Given the description of an element on the screen output the (x, y) to click on. 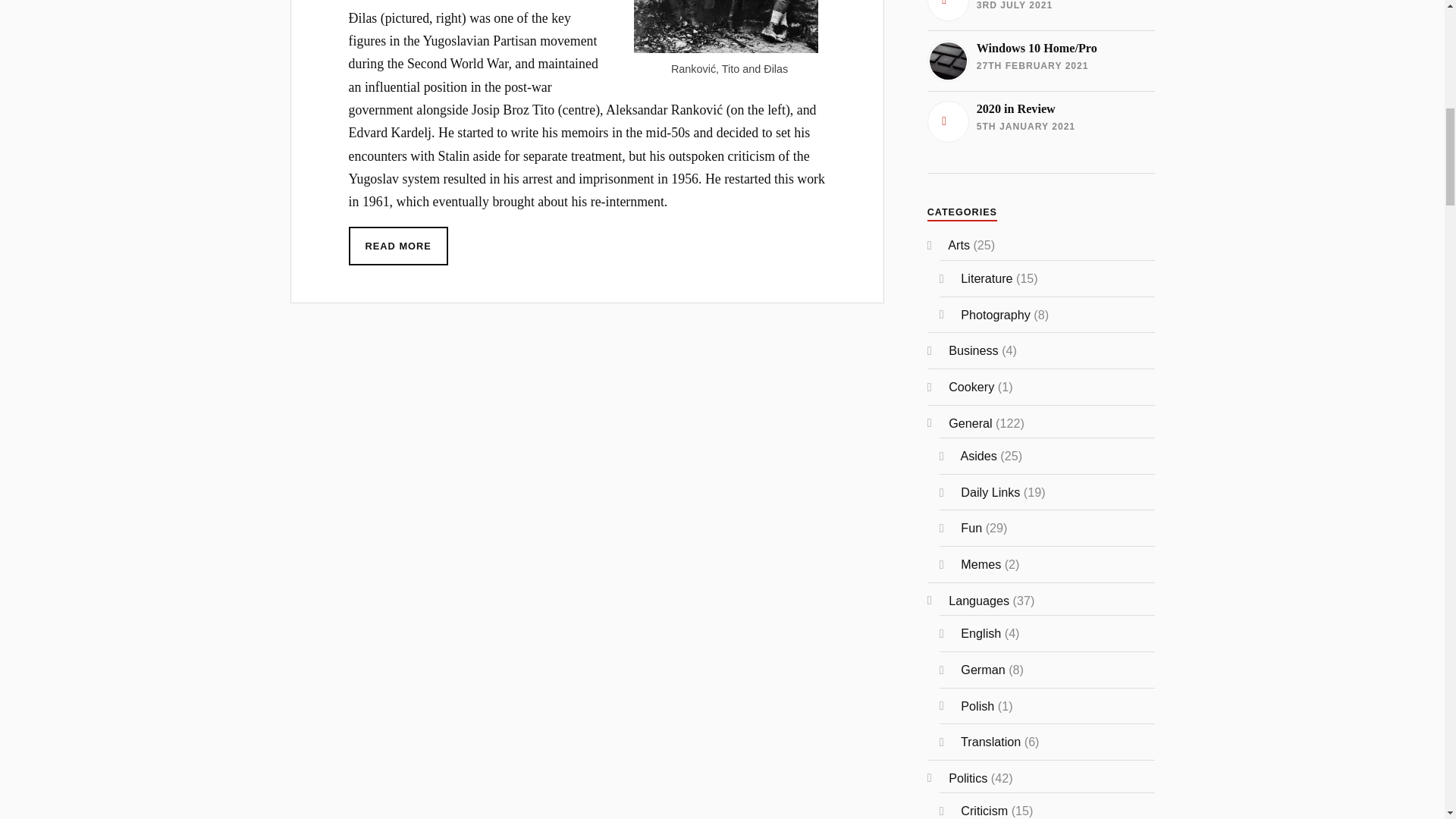
Memes (980, 563)
READ MORE (398, 245)
Photography (995, 314)
General (970, 422)
Fun (970, 527)
Polish (977, 705)
Languages (979, 600)
English (980, 632)
German (982, 669)
Asides (1040, 121)
Cookery (1040, 10)
Business (977, 455)
Literature (971, 386)
